Given the description of an element on the screen output the (x, y) to click on. 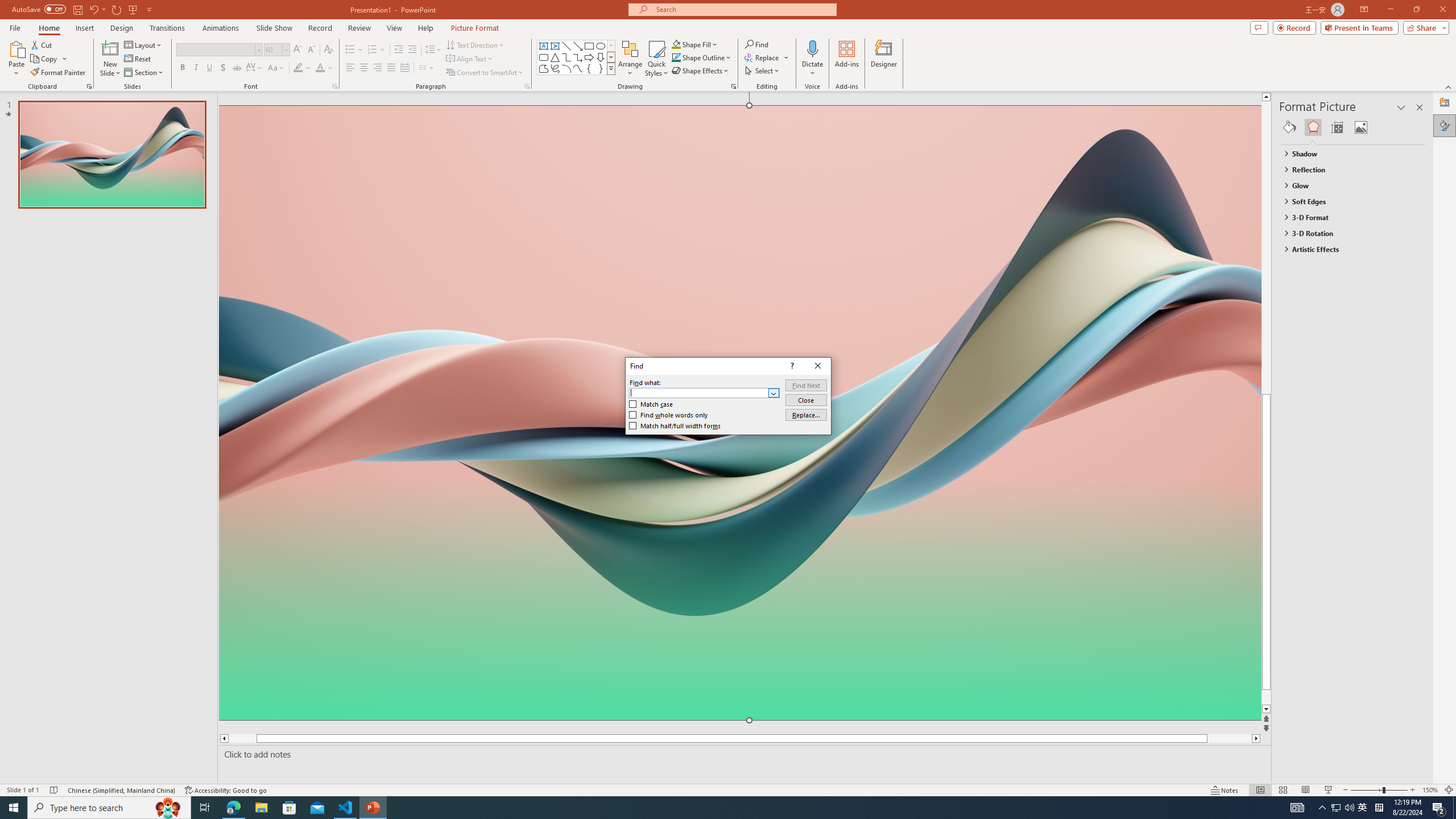
3-D Rotation (1347, 232)
